Given the description of an element on the screen output the (x, y) to click on. 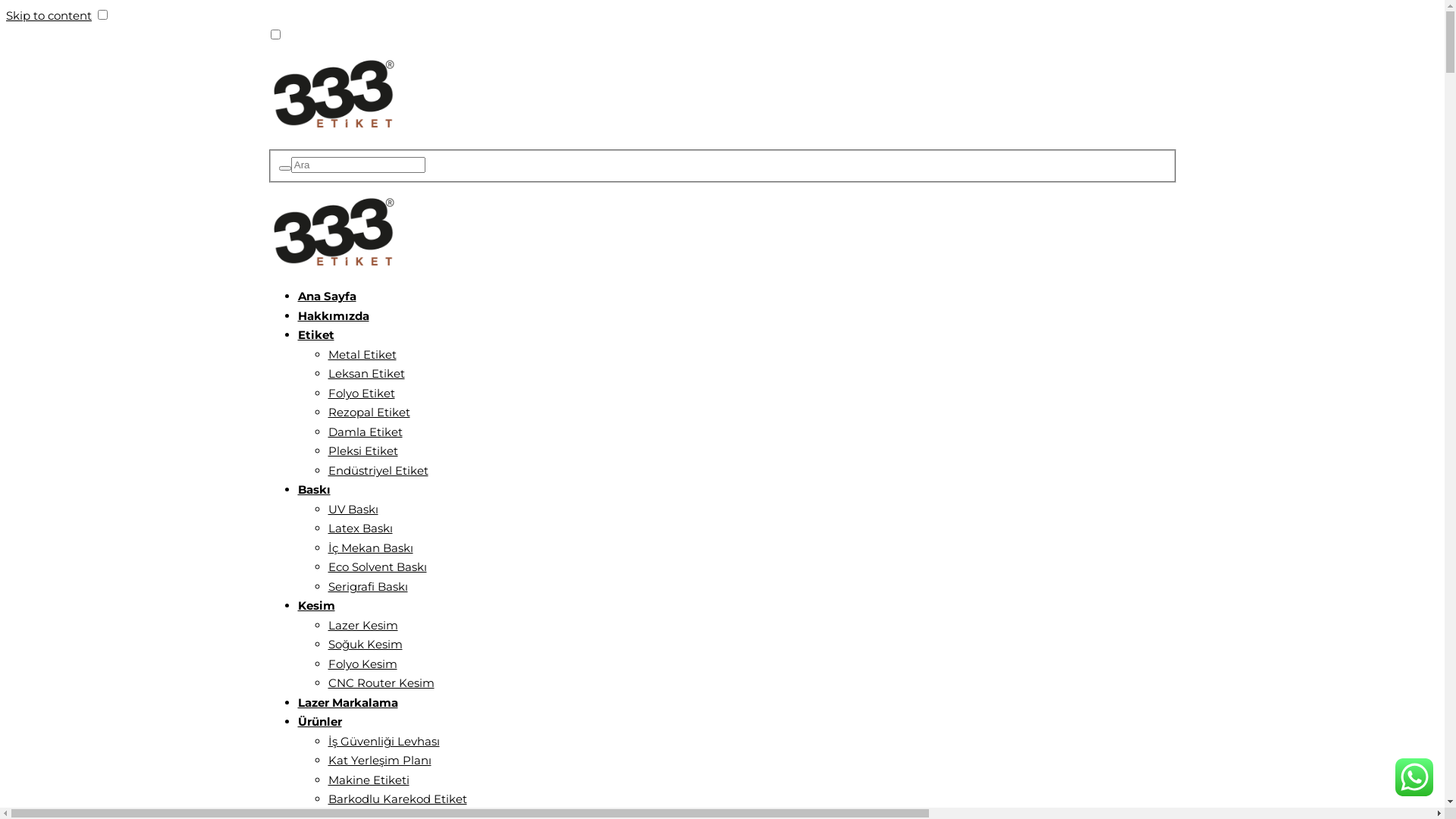
Folyo Etiket Element type: text (360, 392)
Etiket Element type: text (315, 334)
Damla Etiket Element type: text (364, 431)
CNC Router Kesim Element type: text (380, 682)
Pleksi Etiket Element type: text (362, 450)
Ana Sayfa Element type: text (326, 295)
Kesim Element type: text (315, 605)
Ara Element type: text (285, 168)
Folyo Kesim Element type: text (361, 663)
Rezopal Etiket Element type: text (368, 411)
Skip to content Element type: text (48, 15)
Lazer Kesim Element type: text (362, 625)
Makine Etiketi Element type: text (367, 779)
Barkodlu Karekod Etiket Element type: text (396, 798)
Lazer Markalama Element type: text (347, 702)
Leksan Etiket Element type: text (365, 373)
Metal Etiket Element type: text (361, 354)
